Given the description of an element on the screen output the (x, y) to click on. 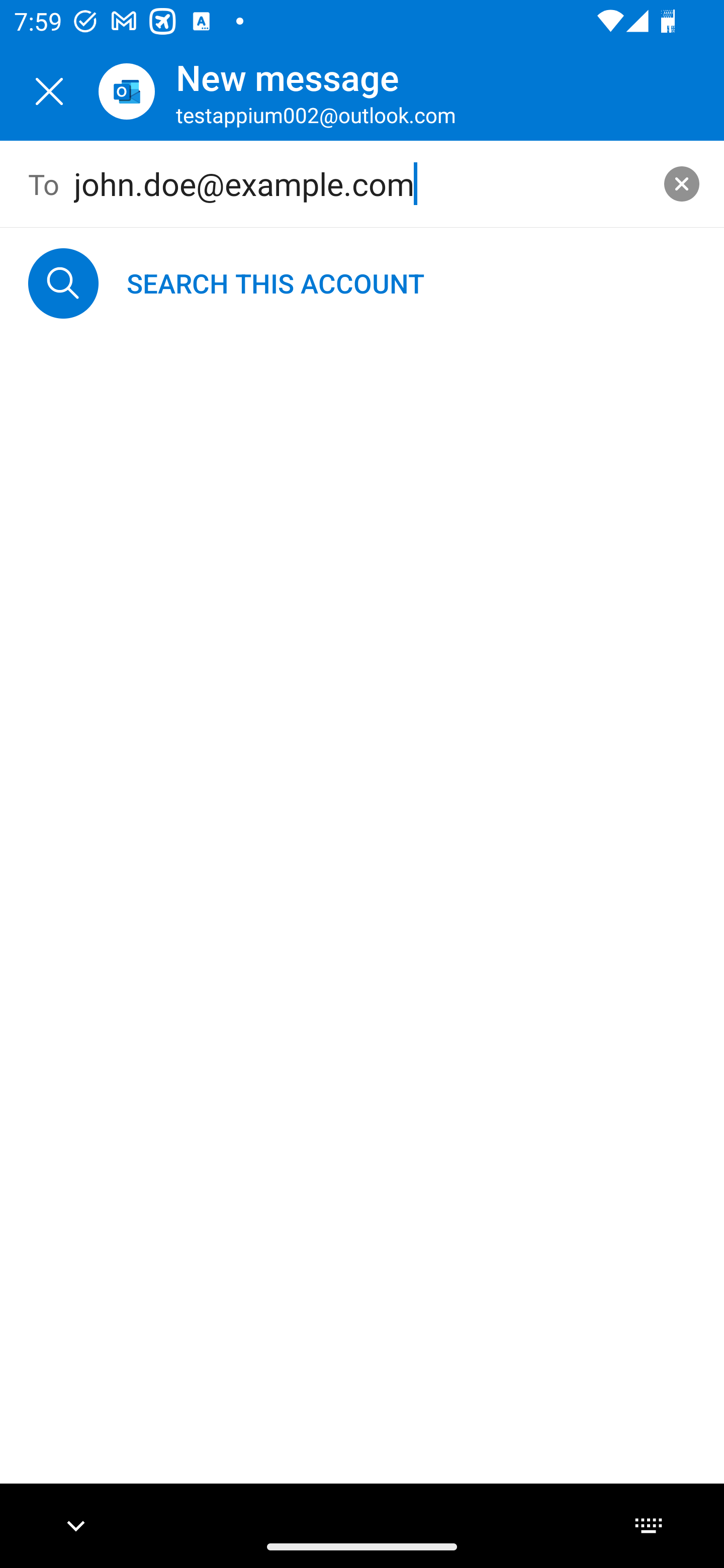
Close (49, 91)
john.doe@example.com (362, 184)
clear search (681, 183)
